Given the description of an element on the screen output the (x, y) to click on. 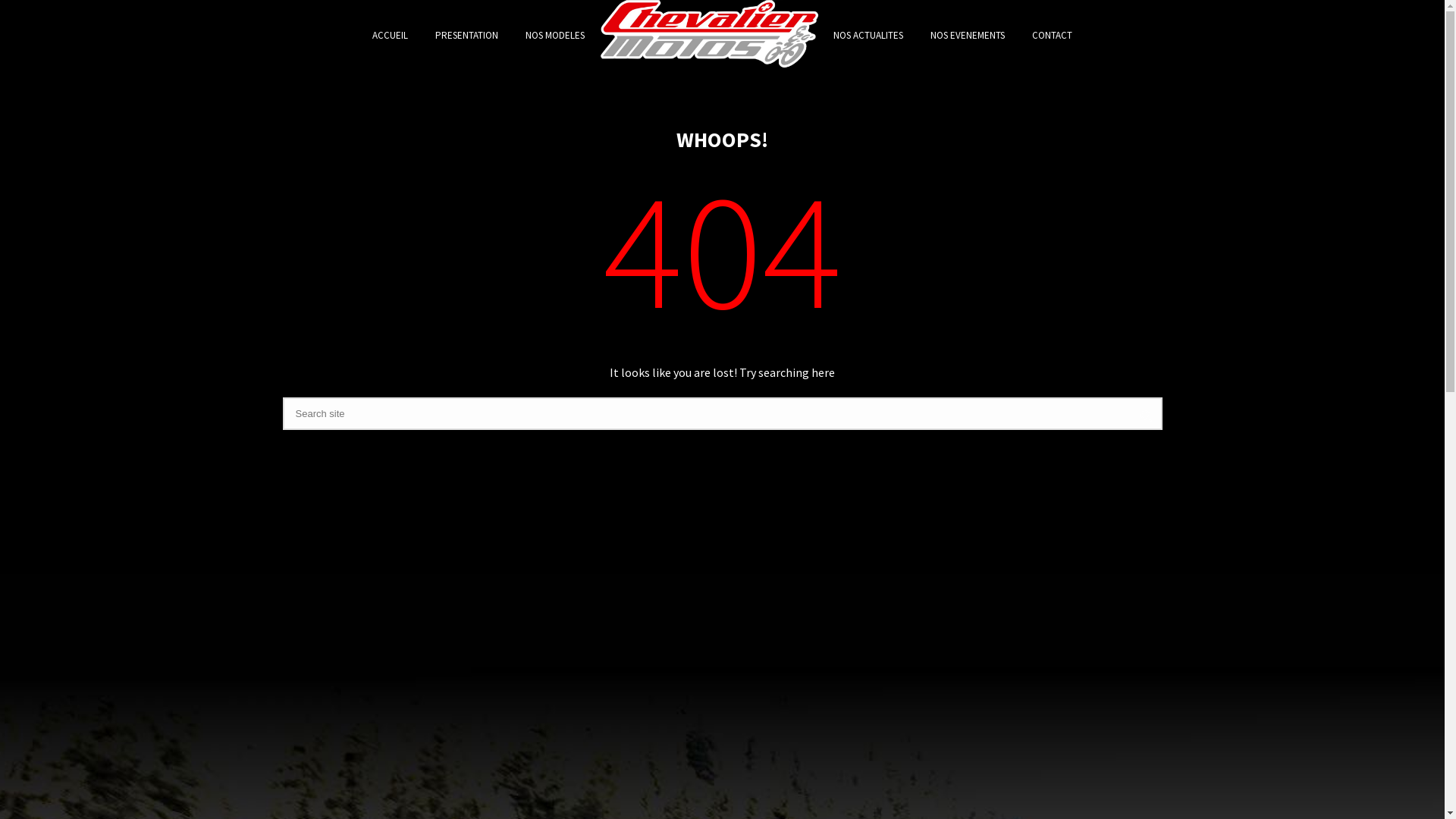
ACCUEIL Element type: text (389, 35)
CONTACT Element type: text (1051, 35)
NOS MODELES Element type: text (554, 35)
NOS ACTUALITES Element type: text (867, 35)
PRESENTATION Element type: text (466, 35)
NOS EVENEMENTS Element type: text (967, 35)
